Given the description of an element on the screen output the (x, y) to click on. 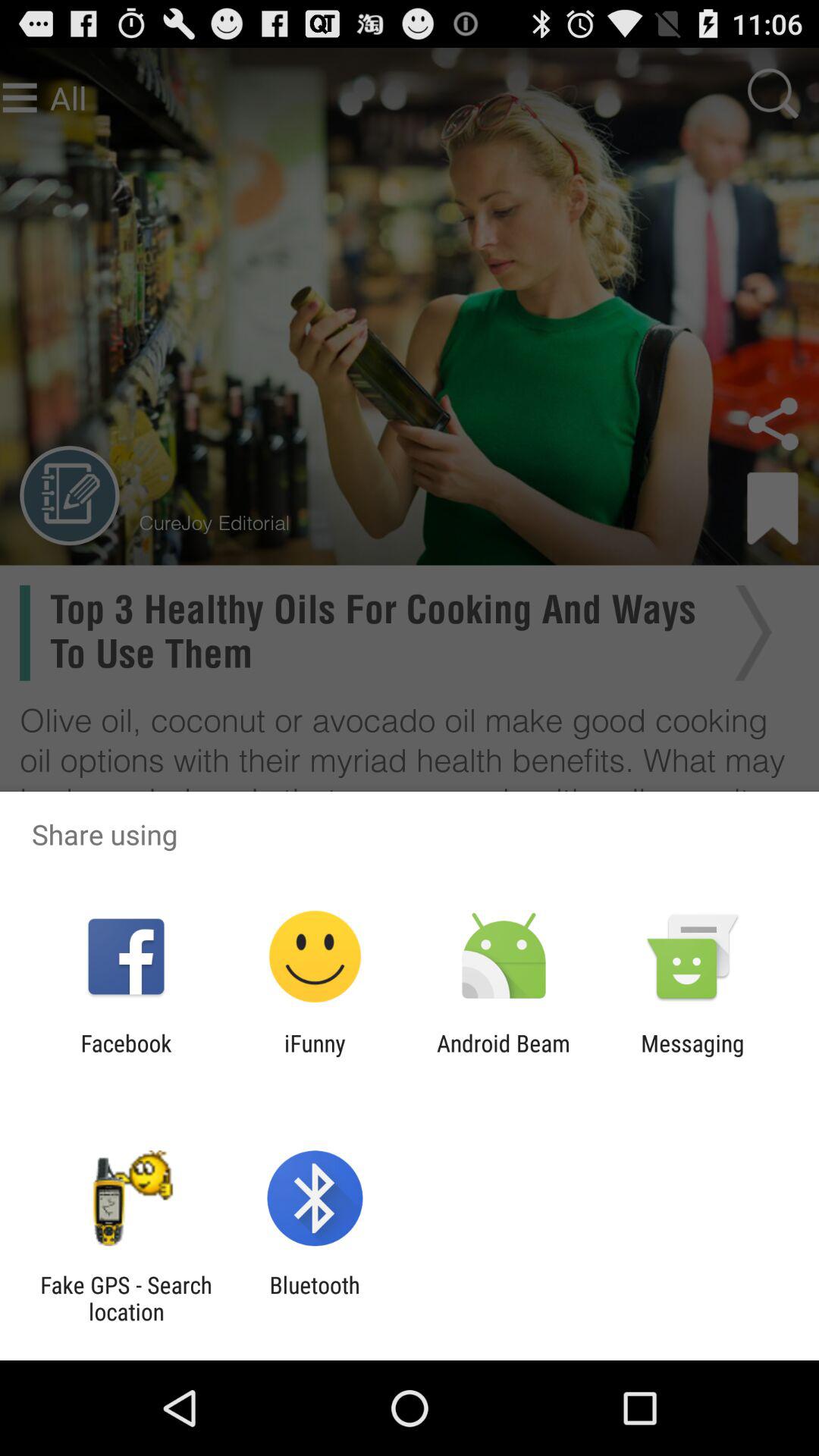
open the item next to the android beam app (314, 1056)
